Given the description of an element on the screen output the (x, y) to click on. 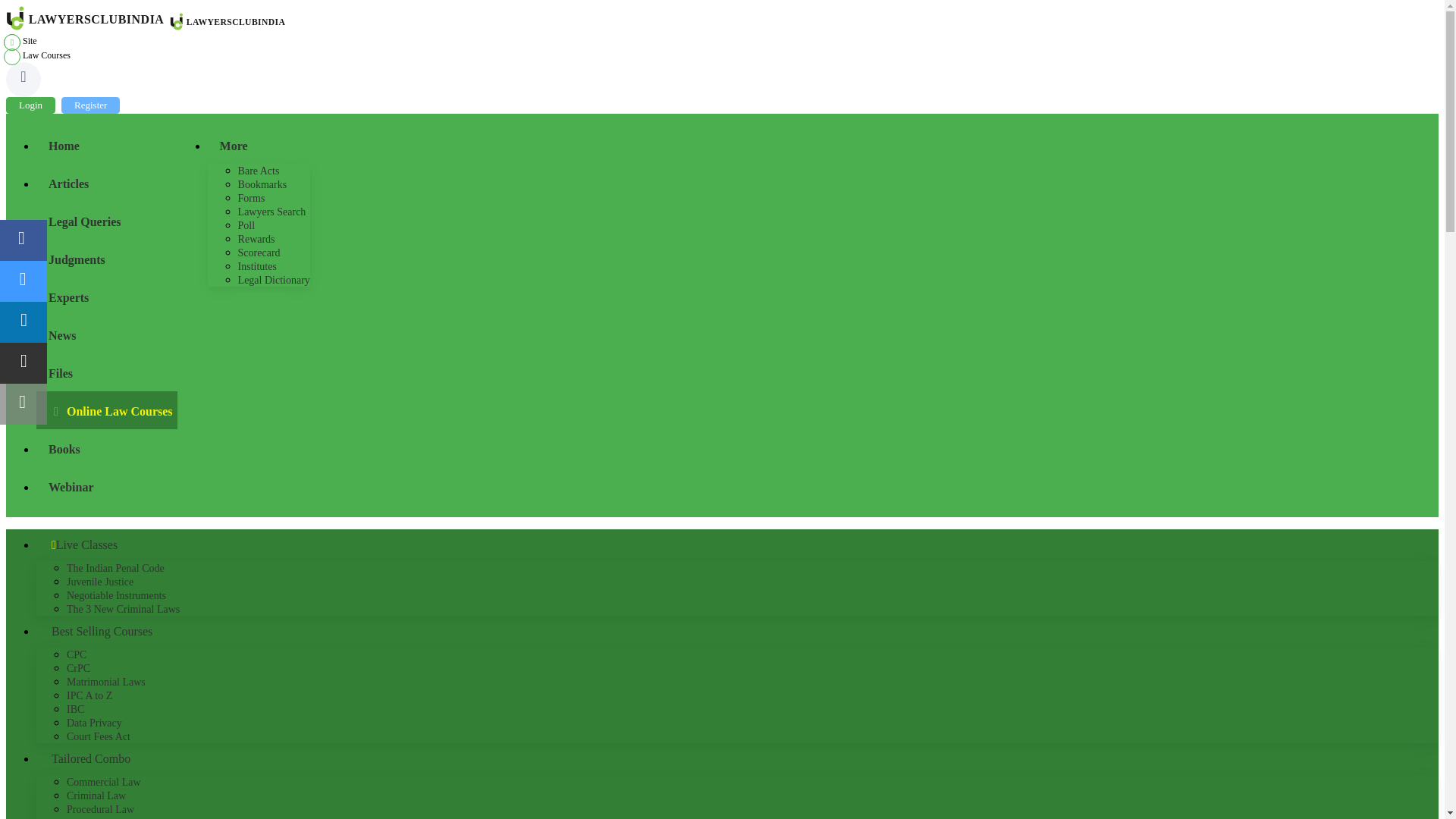
More (228, 144)
Juvenile Justice (99, 582)
CrPC (78, 668)
Juvenile Justice (99, 582)
IBC (75, 708)
IBC (75, 708)
Institutes (257, 266)
CPC (75, 654)
Lawyers Search (271, 211)
IPC A to Z (89, 695)
Experts (106, 296)
Forms (251, 197)
Court Fees Act (98, 736)
Judgments (106, 258)
Matrimonial Laws (105, 681)
